Given the description of an element on the screen output the (x, y) to click on. 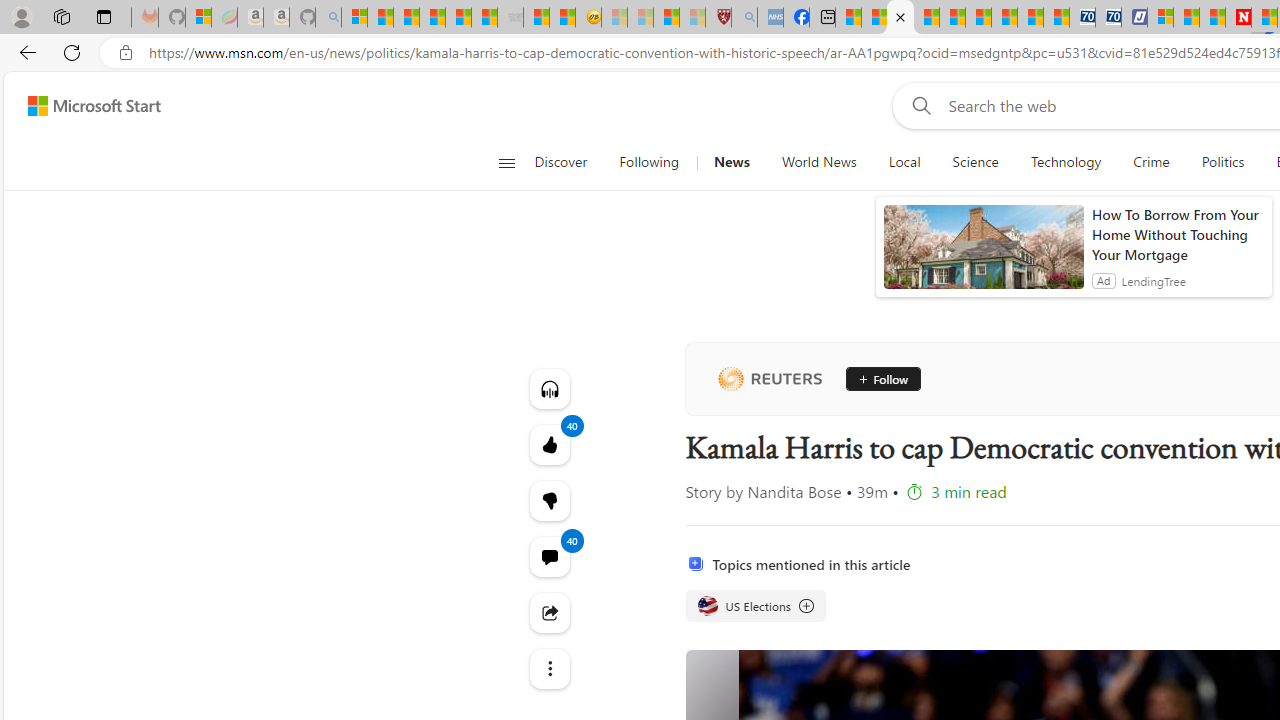
Local (904, 162)
World News (818, 162)
Class: at-item (548, 668)
How To Borrow From Your Home Without Touching Your Mortgage (1177, 234)
Science (975, 162)
